Given the description of an element on the screen output the (x, y) to click on. 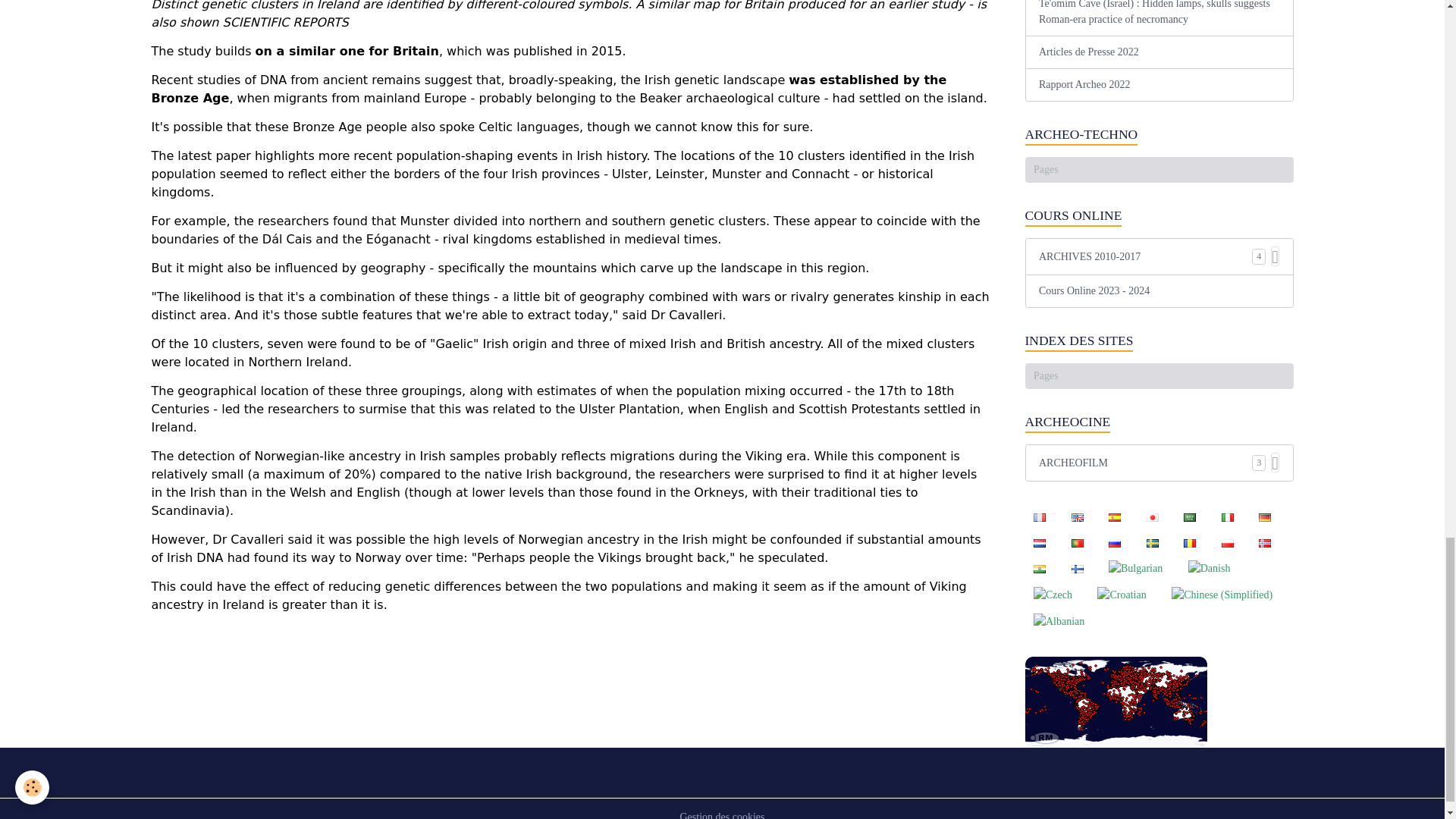
Danish (1209, 568)
Arabic (1189, 516)
Japanese (1152, 516)
Nederlands (1039, 542)
Italiano (1226, 516)
Russian (1114, 542)
on a similar one for Britain (347, 51)
Hindi (1039, 567)
Finnish (1077, 567)
Polish (1226, 542)
Portuguesa (1077, 542)
Norwegian (1264, 542)
was established by the Bronze Age (549, 89)
Bulgarian (1134, 568)
Swedish (1152, 542)
